Given the description of an element on the screen output the (x, y) to click on. 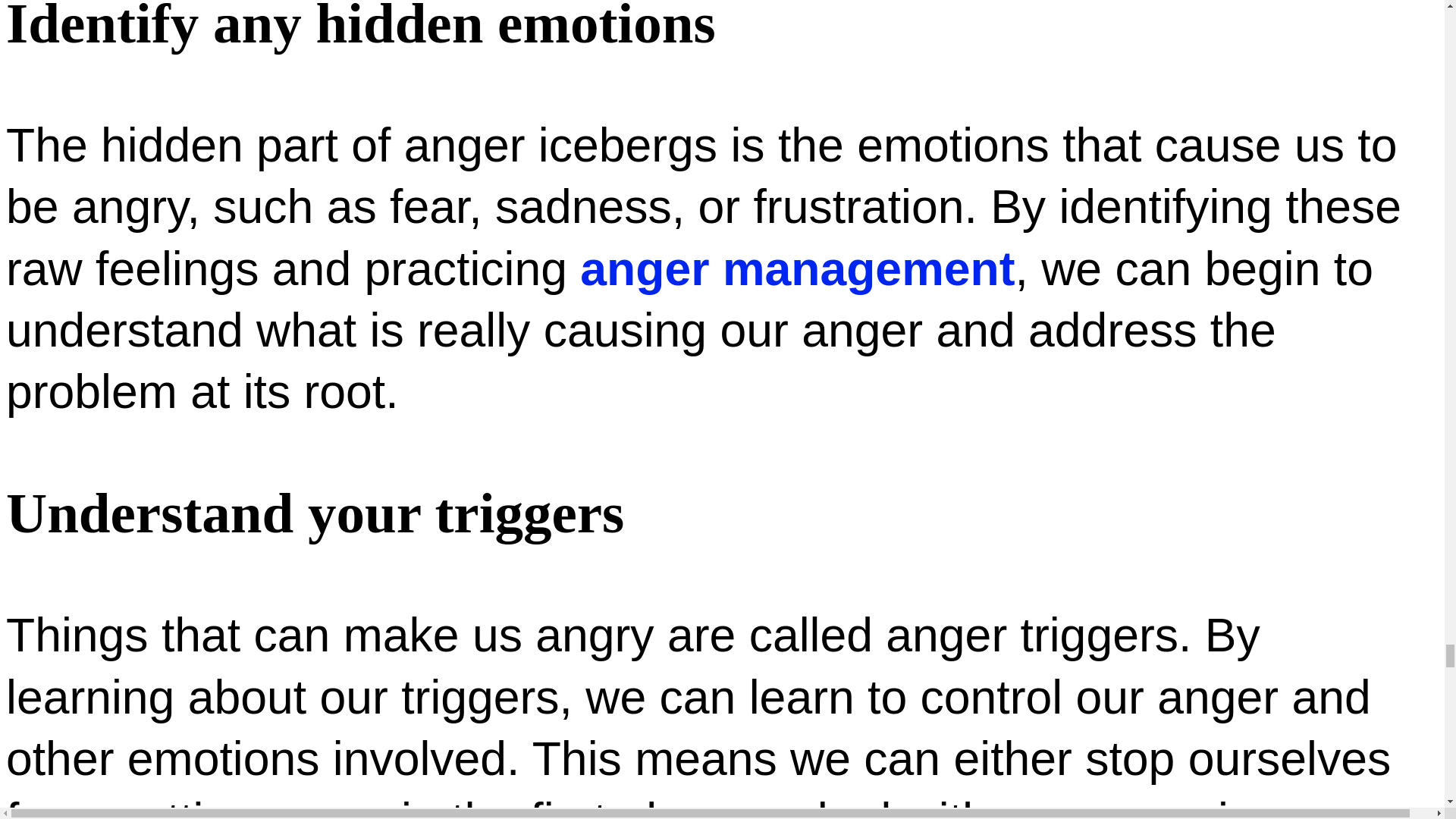
anger management (796, 267)
